Given the description of an element on the screen output the (x, y) to click on. 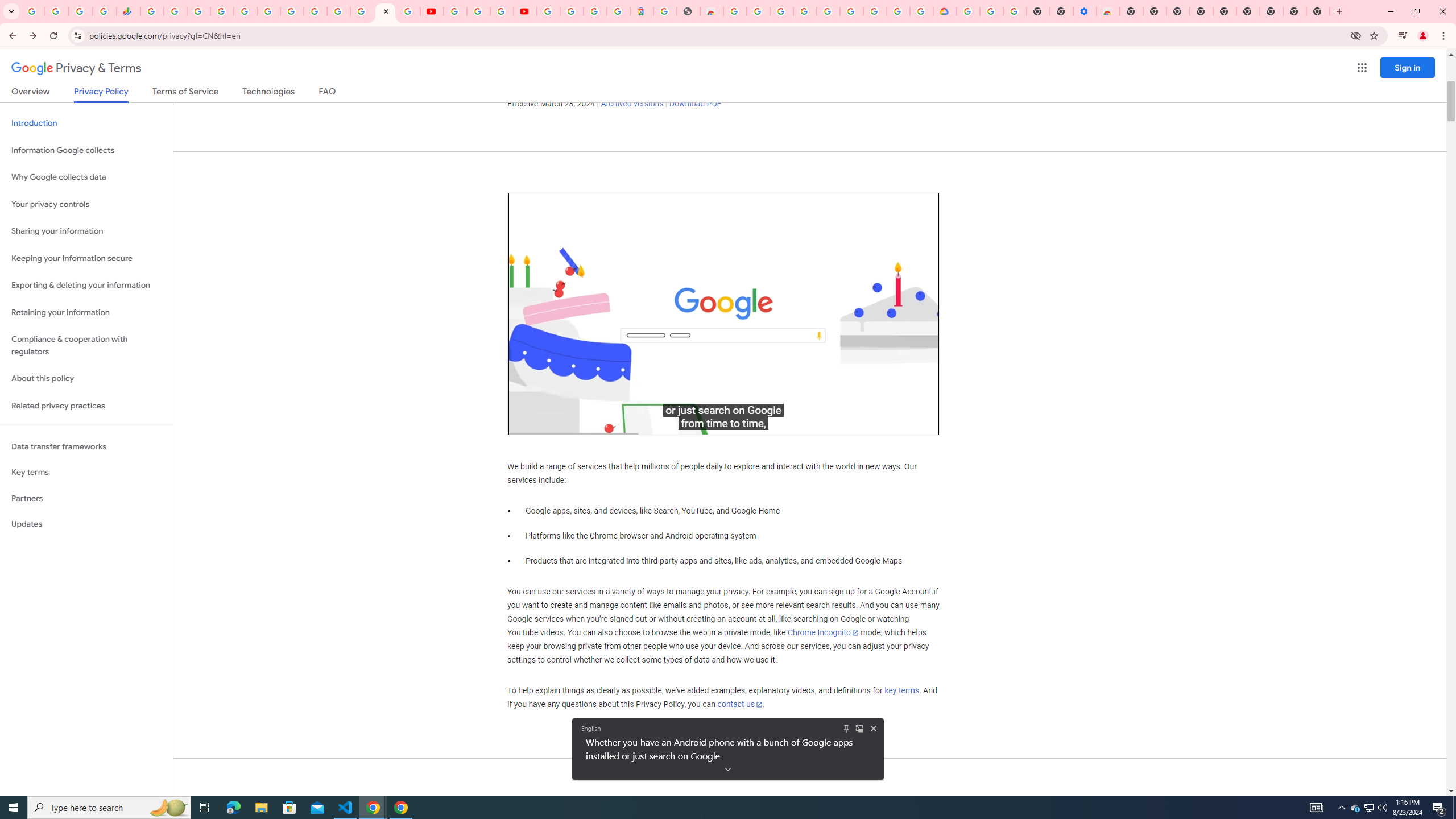
Data transfer frameworks (86, 446)
New Tab (1318, 11)
Google Workspace Admin Community (32, 11)
Turn cookies on or off - Computer - Google Account Help (1015, 11)
Sign in - Google Accounts (571, 11)
YouTube (314, 11)
New Tab (1131, 11)
contact us (739, 704)
Information Google collects (86, 150)
Create your Google Account (897, 11)
